Given the description of an element on the screen output the (x, y) to click on. 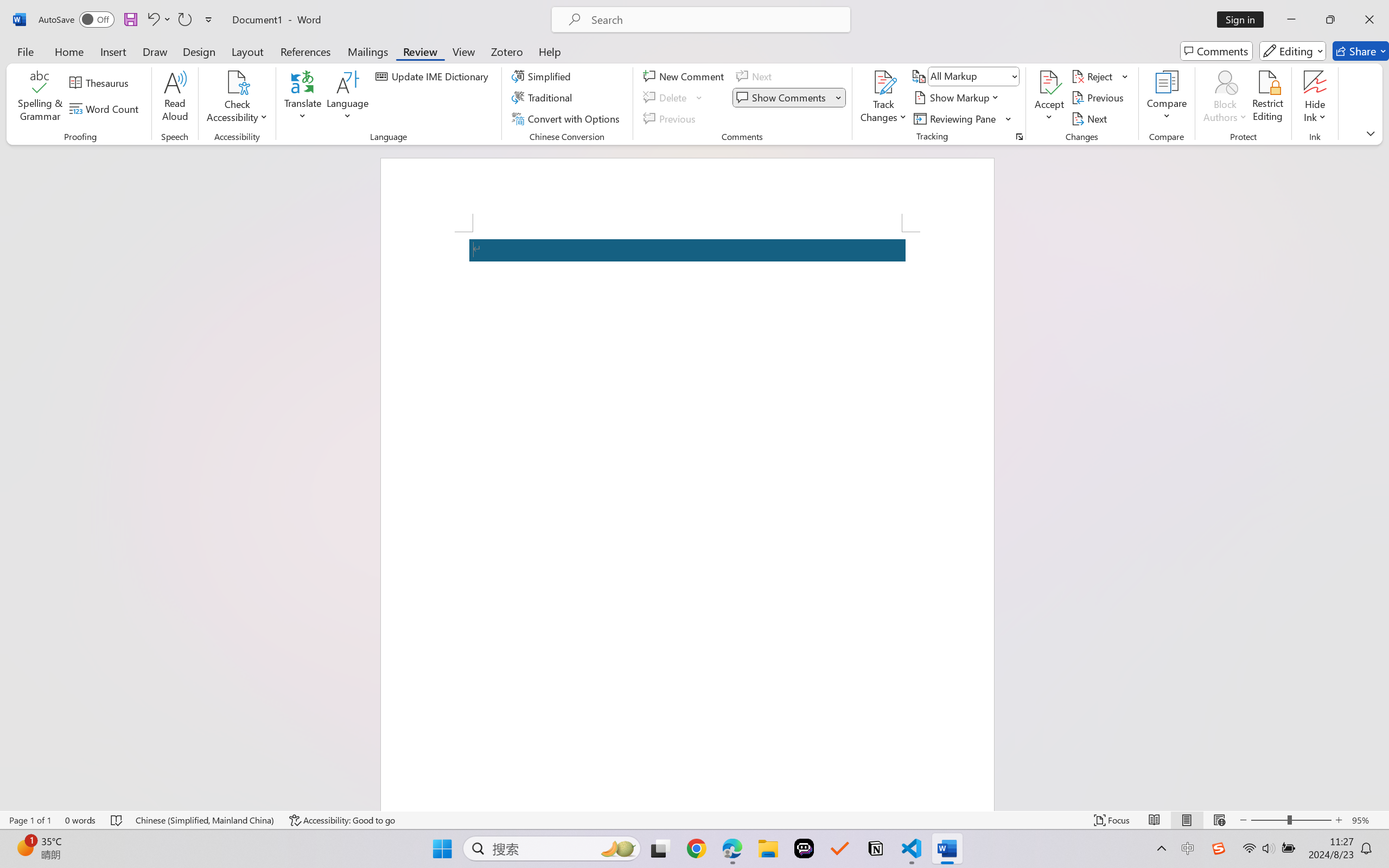
Word Count (105, 108)
Update IME Dictionary... (433, 75)
Language (347, 97)
Compare (1166, 97)
Undo Apply Quick Style Set (152, 19)
Spelling & Grammar (39, 97)
Change Tracking Options... (1019, 136)
Traditional (543, 97)
